Given the description of an element on the screen output the (x, y) to click on. 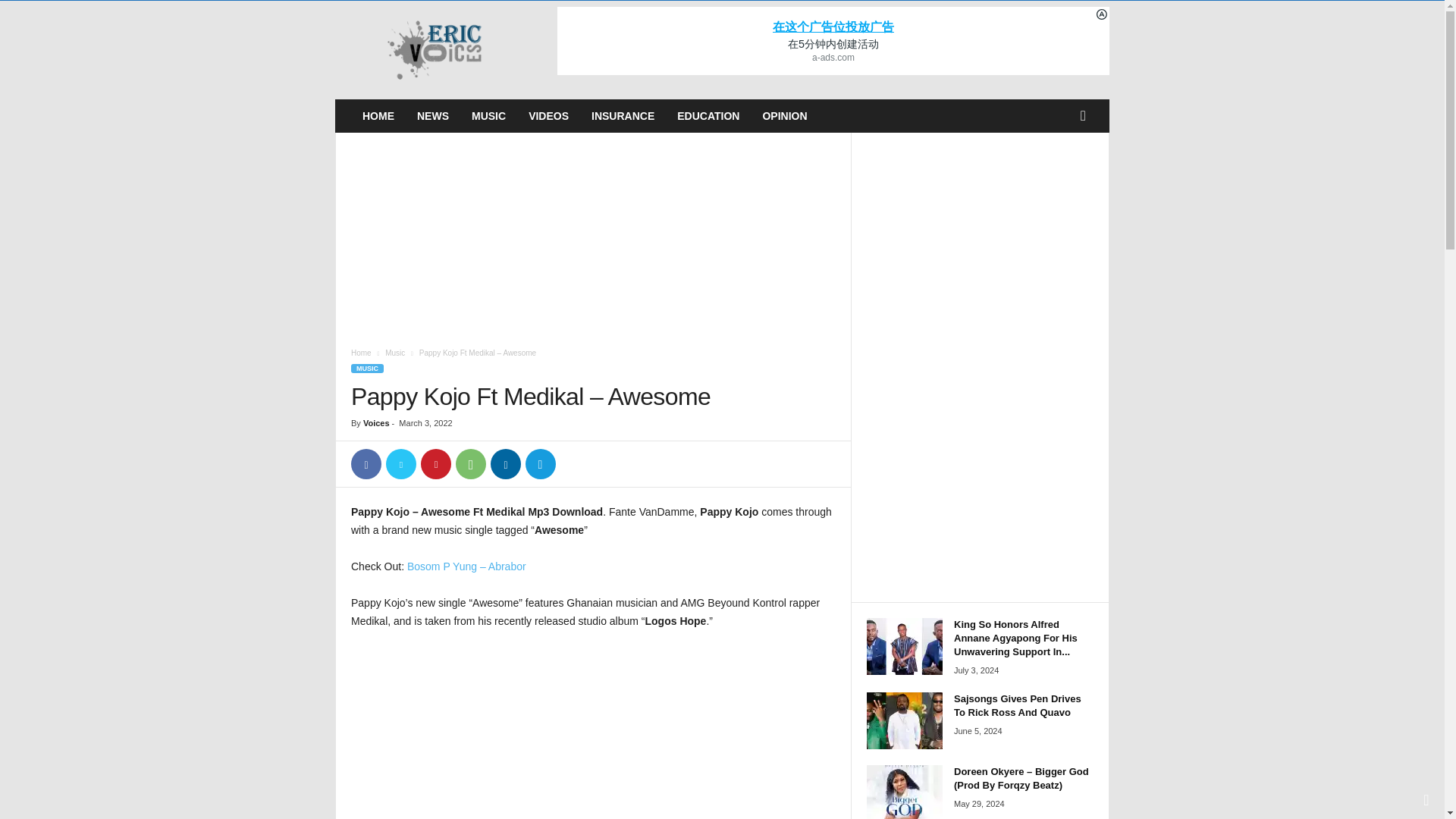
MUSIC (367, 368)
OPINION (784, 115)
VIDEOS (547, 115)
MUSIC (488, 115)
Pinterest (435, 463)
Linkedin (505, 463)
WhatsApp (470, 463)
Home (360, 352)
Voices (376, 422)
Telegram (540, 463)
Facebook (365, 463)
EricVoices (437, 49)
INSURANCE (622, 115)
HOME (378, 115)
Twitter (400, 463)
